Given the description of an element on the screen output the (x, y) to click on. 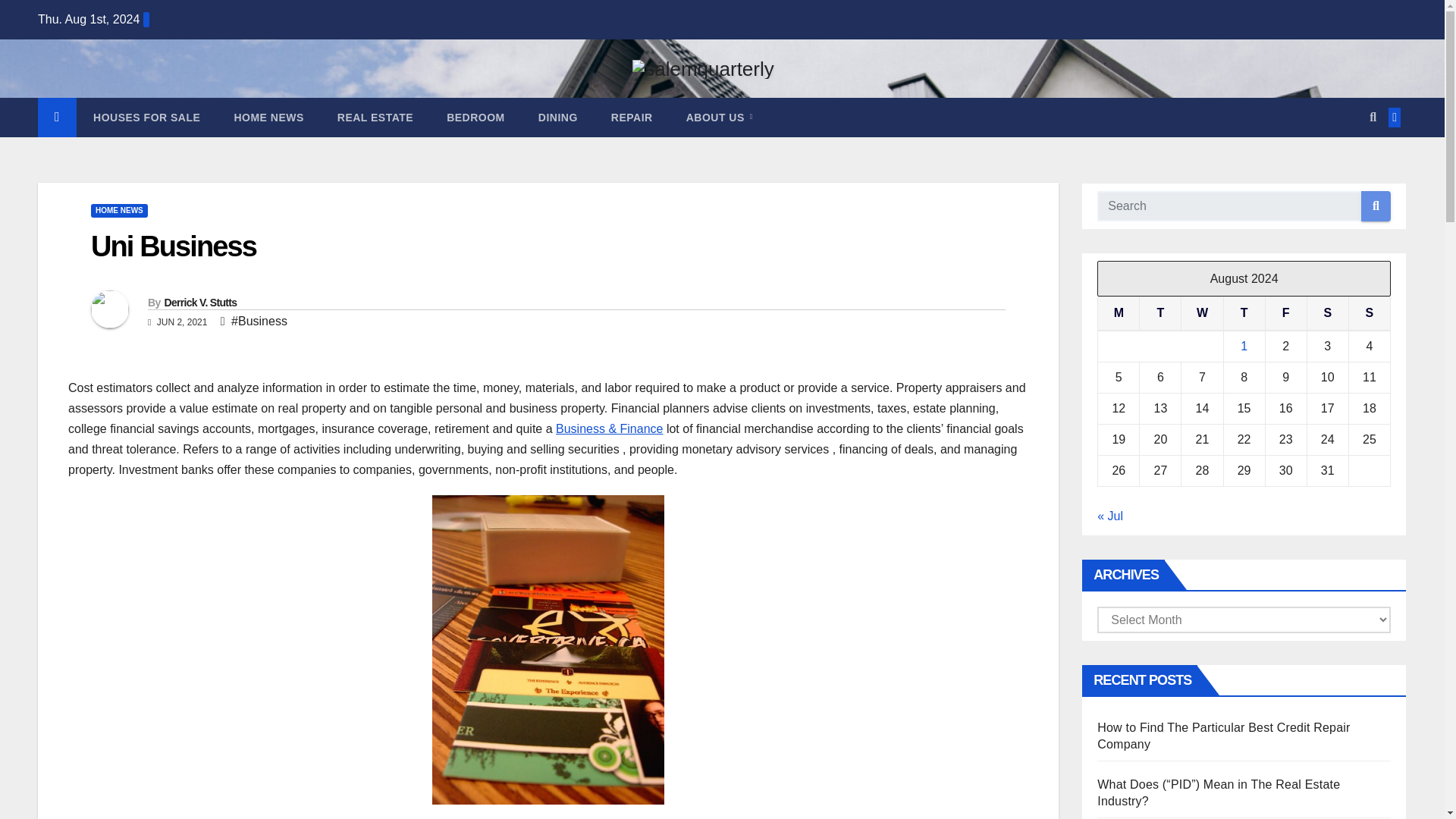
Derrick V. Stutts (199, 302)
HOME NEWS (119, 210)
About Us (719, 117)
Home News (268, 117)
REPAIR (631, 117)
HOME NEWS (268, 117)
Uni Business (173, 246)
Dining (557, 117)
HOUSES FOR SALE (146, 117)
Permalink to: Uni Business (173, 246)
Houses For Sale (146, 117)
DINING (557, 117)
ABOUT US (719, 117)
Repair (631, 117)
Real Estate (374, 117)
